Given the description of an element on the screen output the (x, y) to click on. 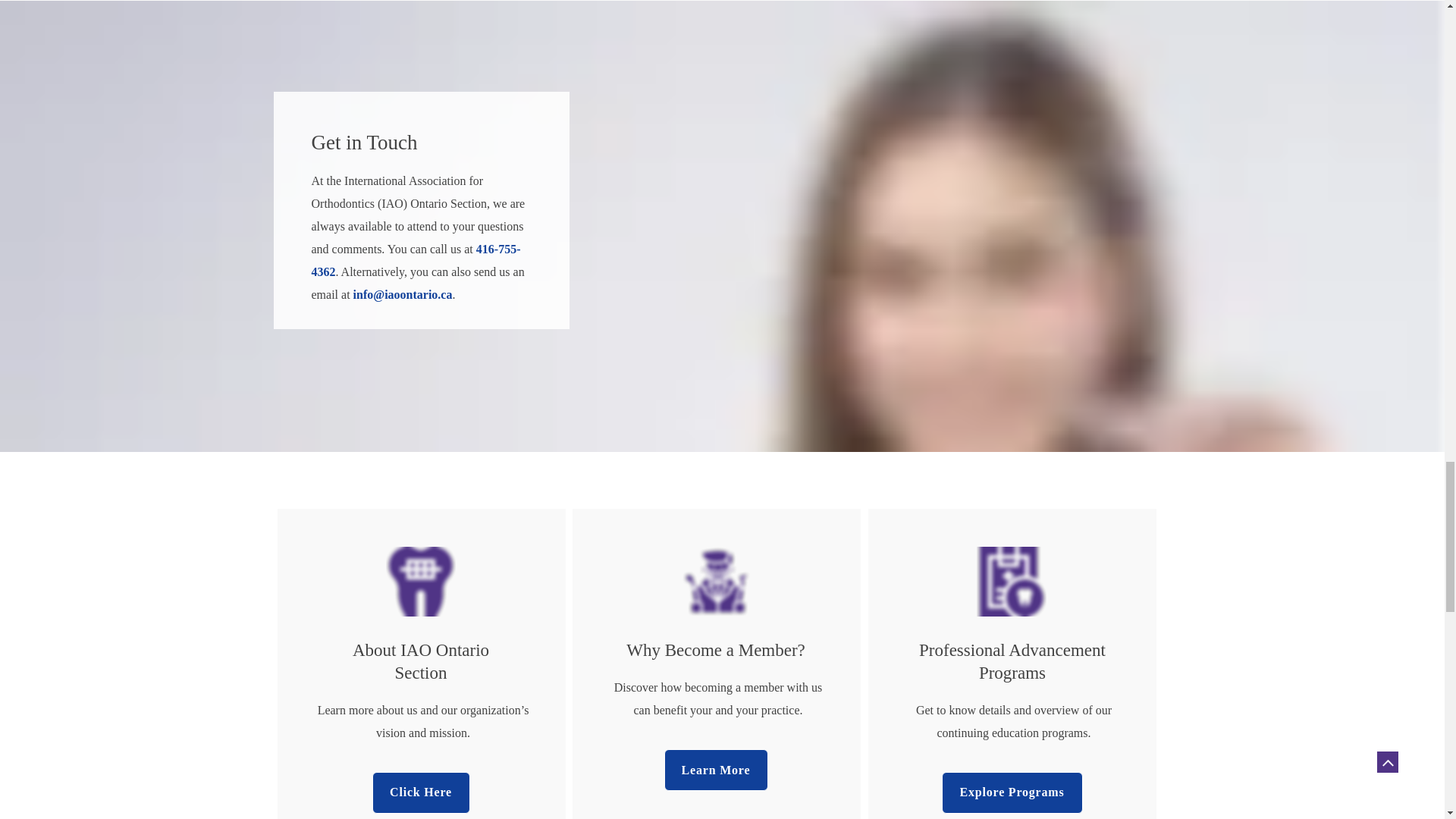
416-755-4362 (415, 261)
Explore Programs (1012, 793)
Click Here (419, 793)
Learn More (715, 770)
